Given the description of an element on the screen output the (x, y) to click on. 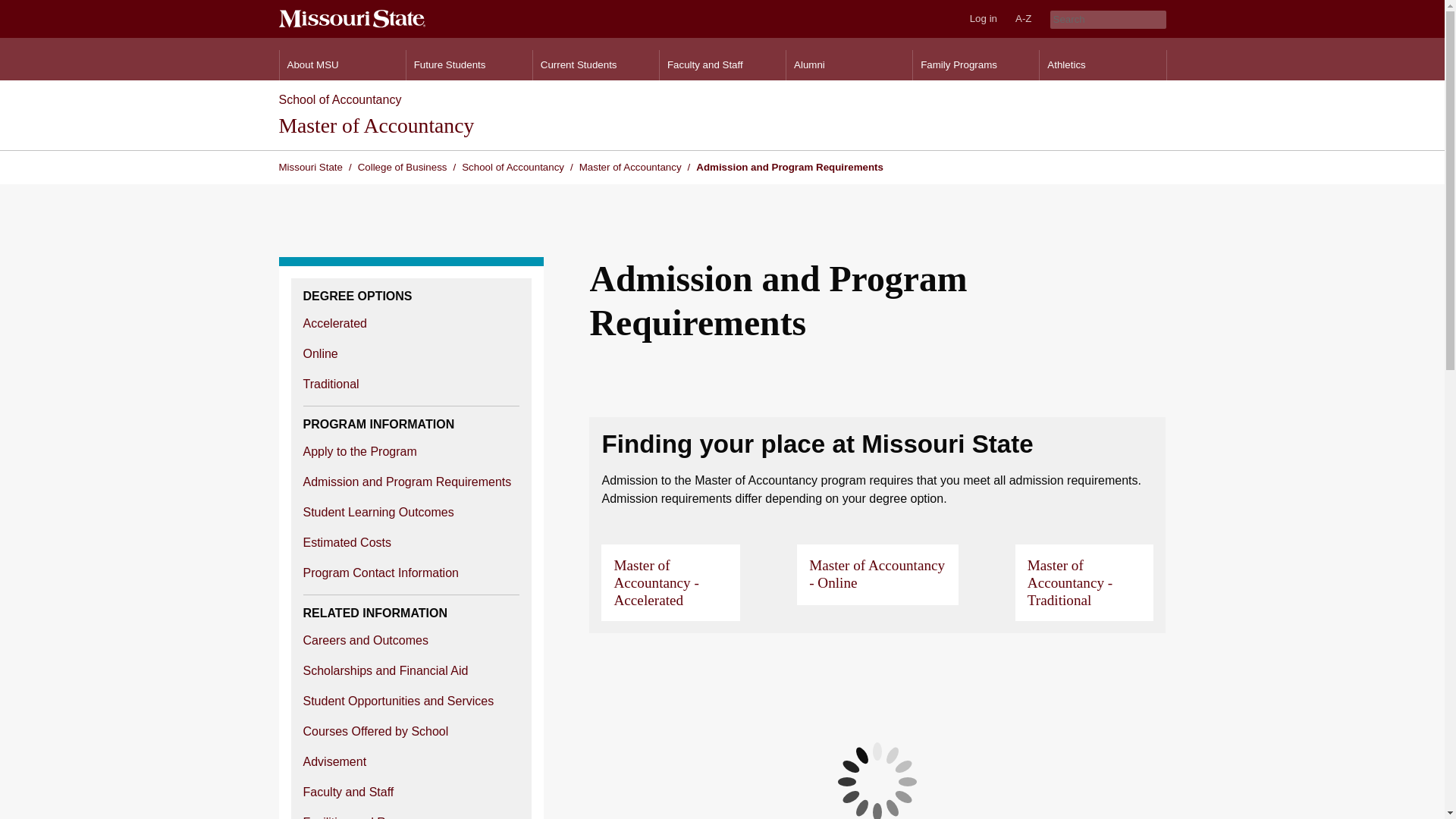
Future Students (469, 64)
About MSU (341, 64)
Current Students (595, 64)
A-Z (1023, 18)
Log in (983, 18)
